Given the description of an element on the screen output the (x, y) to click on. 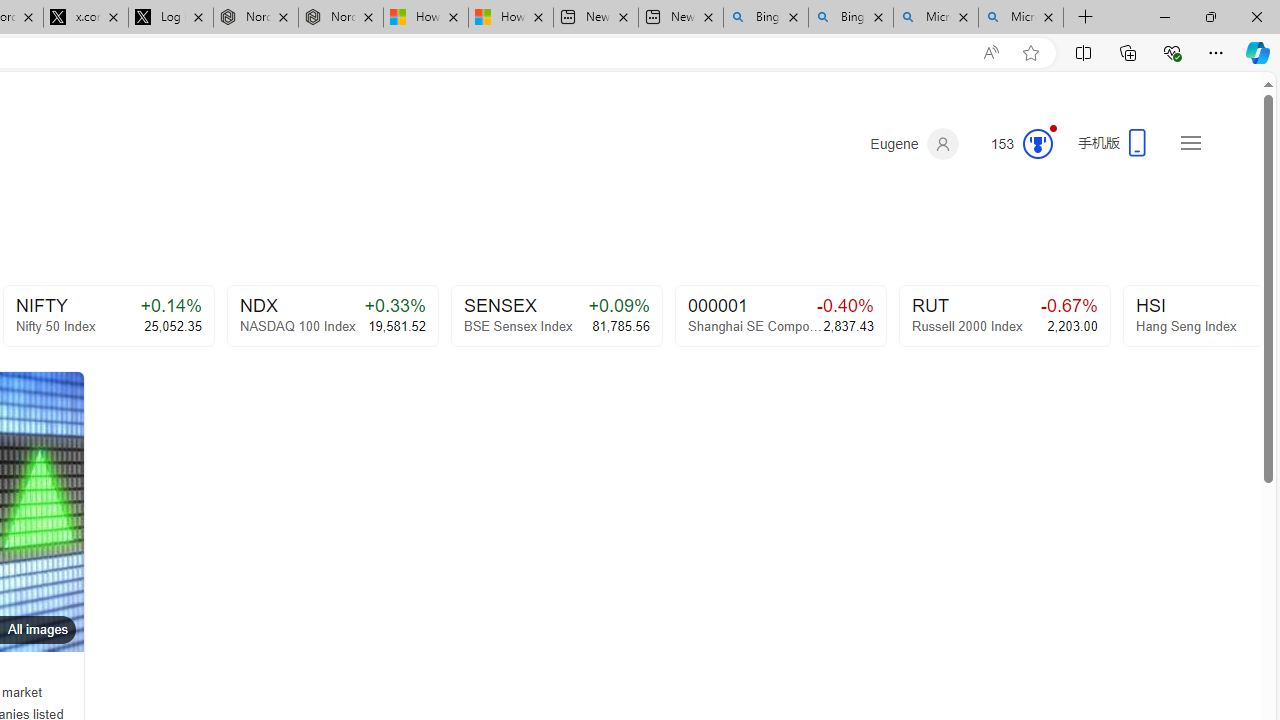
000001 -0.40% Shanghai SE Composite Index 2,837.43 (780, 315)
NIFTY +0.14% Nifty 50 Index 25,052.35 (108, 315)
Eugene (914, 143)
Microsoft Bing Timeline - Search (1021, 17)
x.com/NordaceOfficial (85, 17)
Click to scroll right (1220, 314)
RUT-0.67%Russell 2000 Index2,203.00 (1004, 315)
SENSEX+0.09%BSE Sensex Index81,785.56 (556, 315)
NDX+0.33%NASDAQ 100 Index19,581.52 (332, 315)
